Given the description of an element on the screen output the (x, y) to click on. 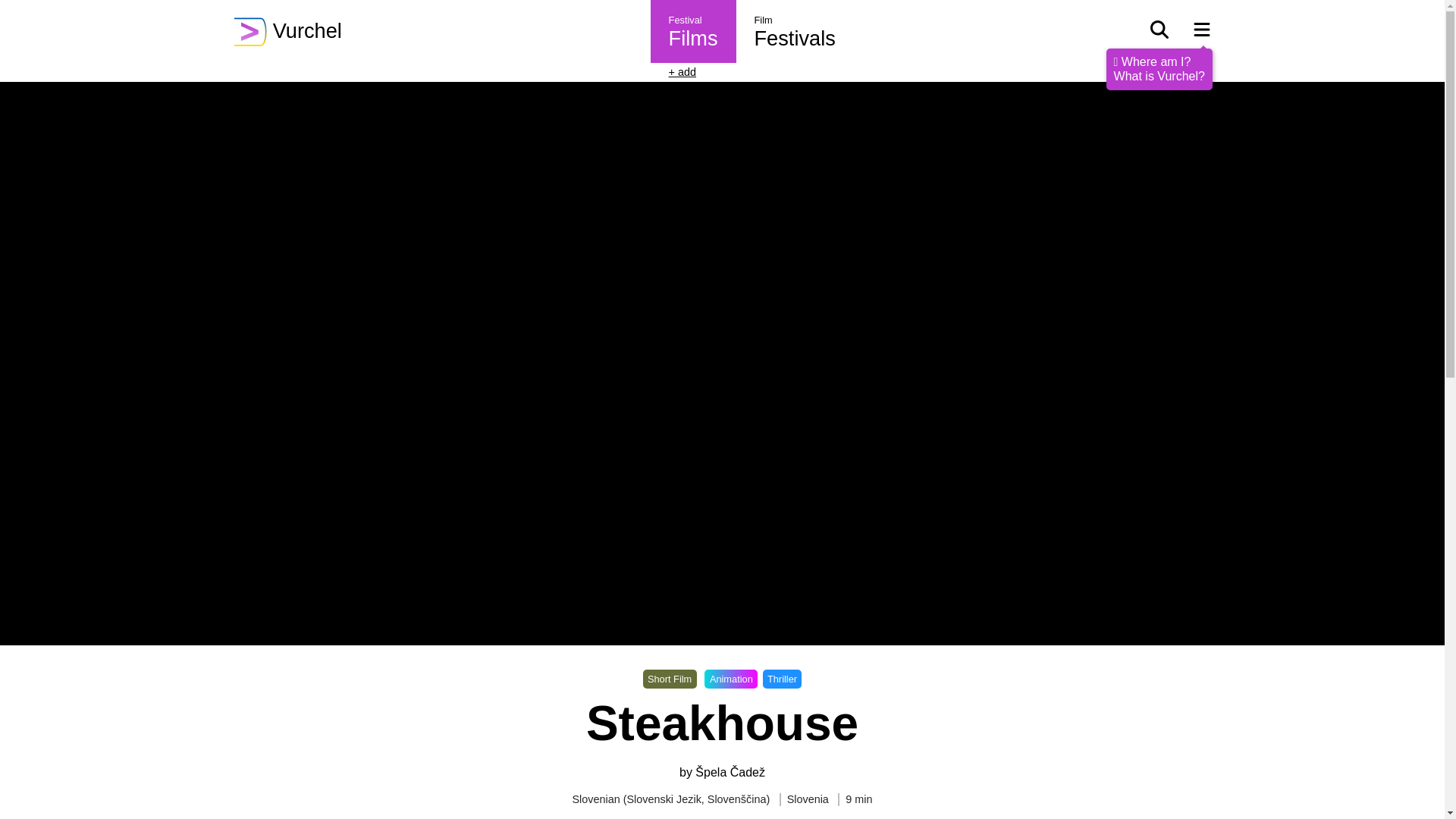
Festivals (794, 38)
Films (692, 38)
Vurchel (292, 31)
Vurchel (292, 31)
